Given the description of an element on the screen output the (x, y) to click on. 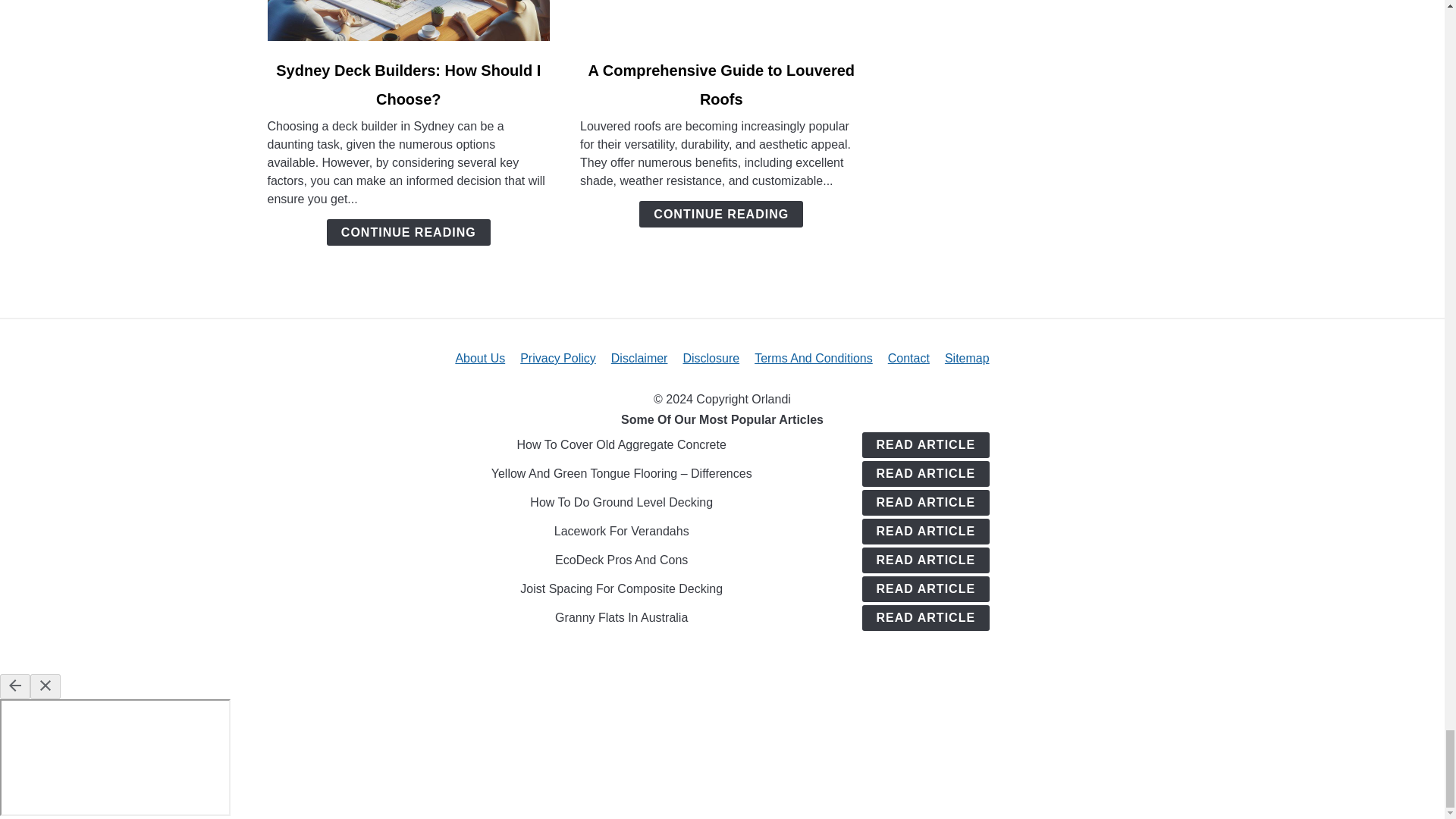
Terms And Conditions (813, 358)
READ ARTICLE (925, 444)
CONTINUE READING (721, 213)
Privacy Policy (557, 358)
link to A Comprehensive Guide to Louvered Roofs (721, 20)
Disclaimer (639, 358)
A Comprehensive Guide to Louvered Roofs (721, 84)
Disclosure (710, 358)
Sitemap (967, 358)
Contact (909, 358)
CONTINUE READING (408, 232)
About Us (479, 358)
link to Sydney Deck Builders: How Should I Choose? (408, 20)
Sydney Deck Builders: How Should I Choose? (408, 84)
